Given the description of an element on the screen output the (x, y) to click on. 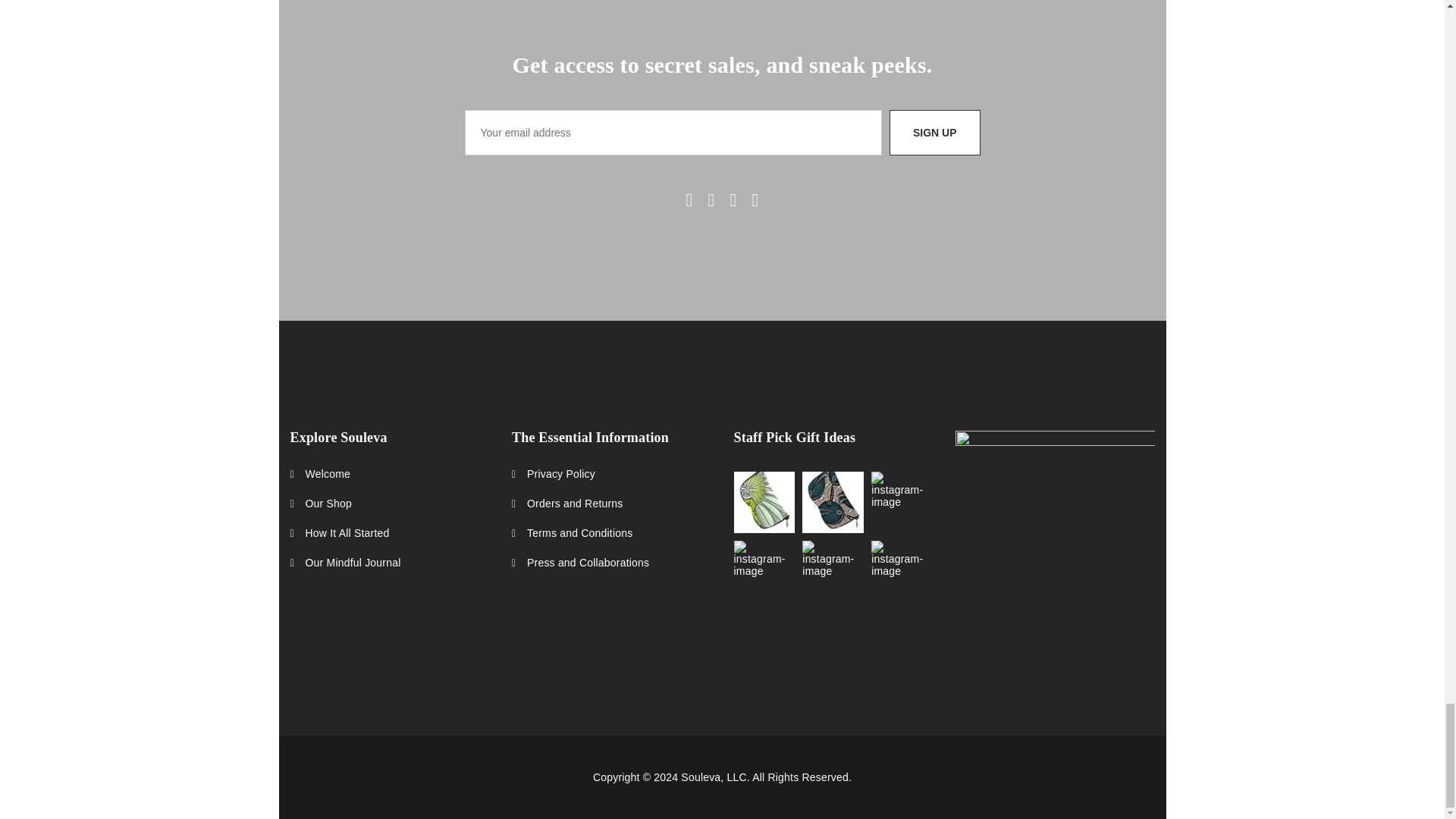
Sign up (934, 132)
